Given the description of an element on the screen output the (x, y) to click on. 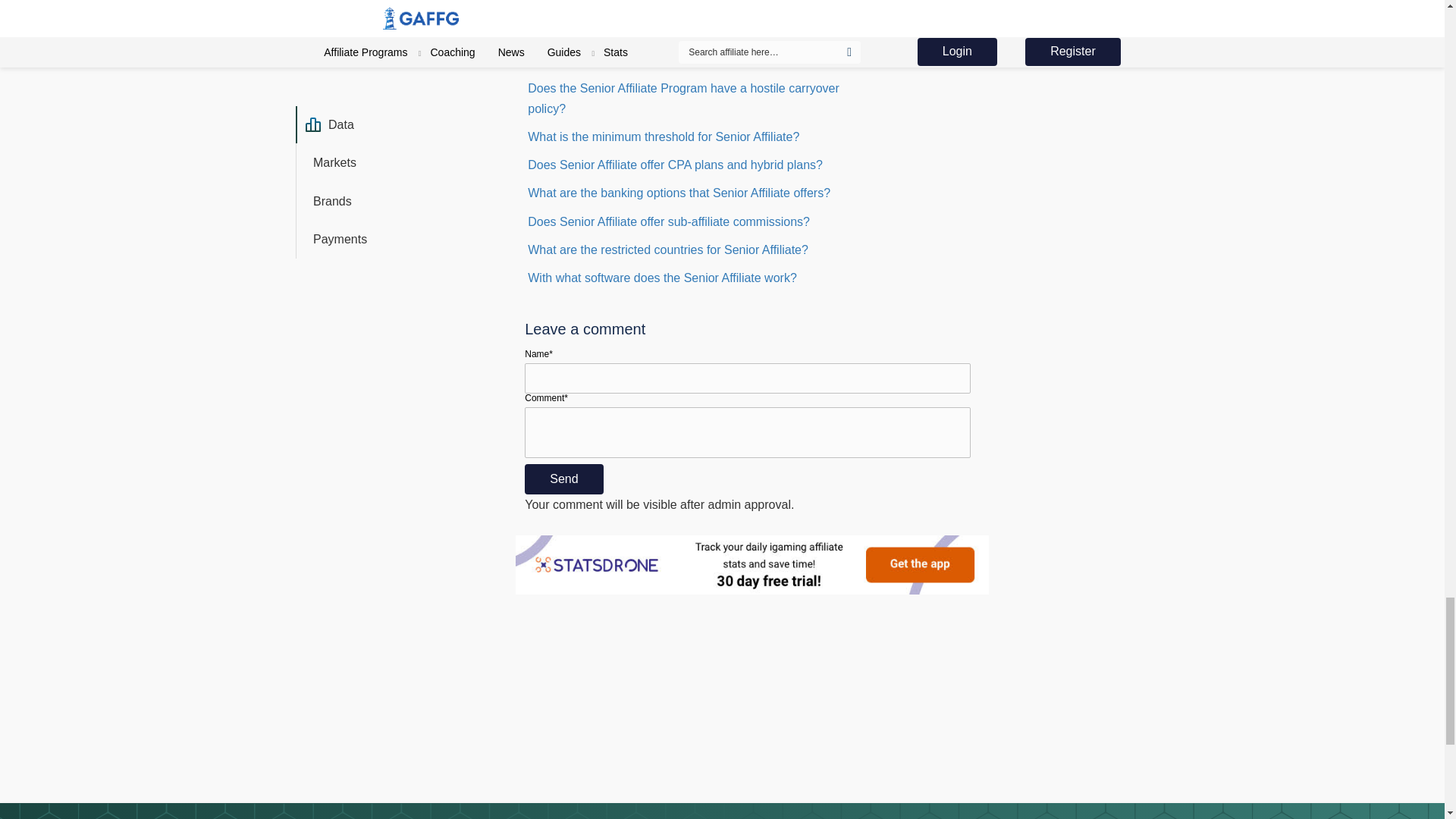
Send (563, 479)
